Given the description of an element on the screen output the (x, y) to click on. 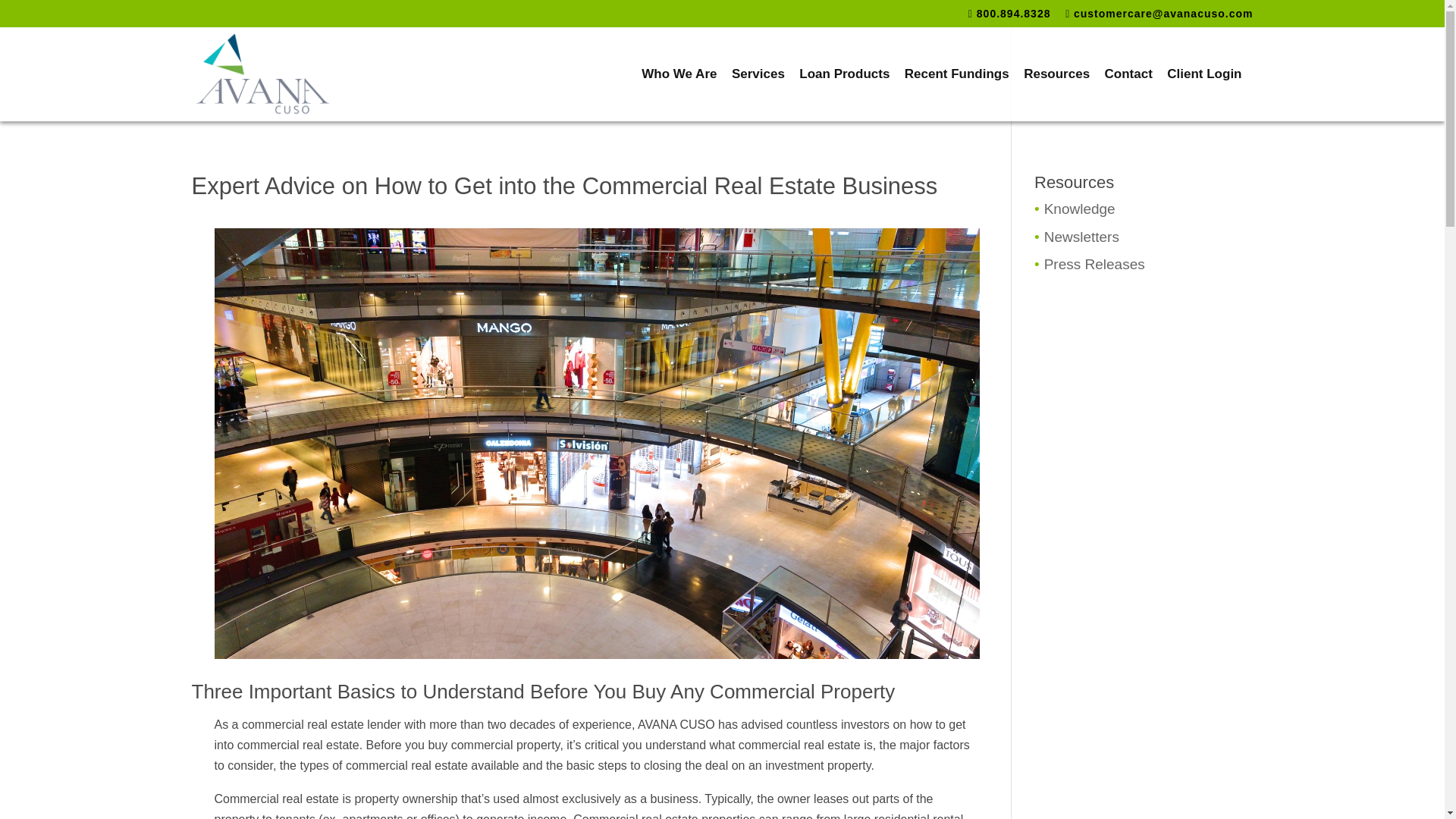
Loan Products (844, 94)
Recent Fundings (956, 94)
Resources (1056, 94)
Services (758, 94)
Who We Are (679, 94)
